Given the description of an element on the screen output the (x, y) to click on. 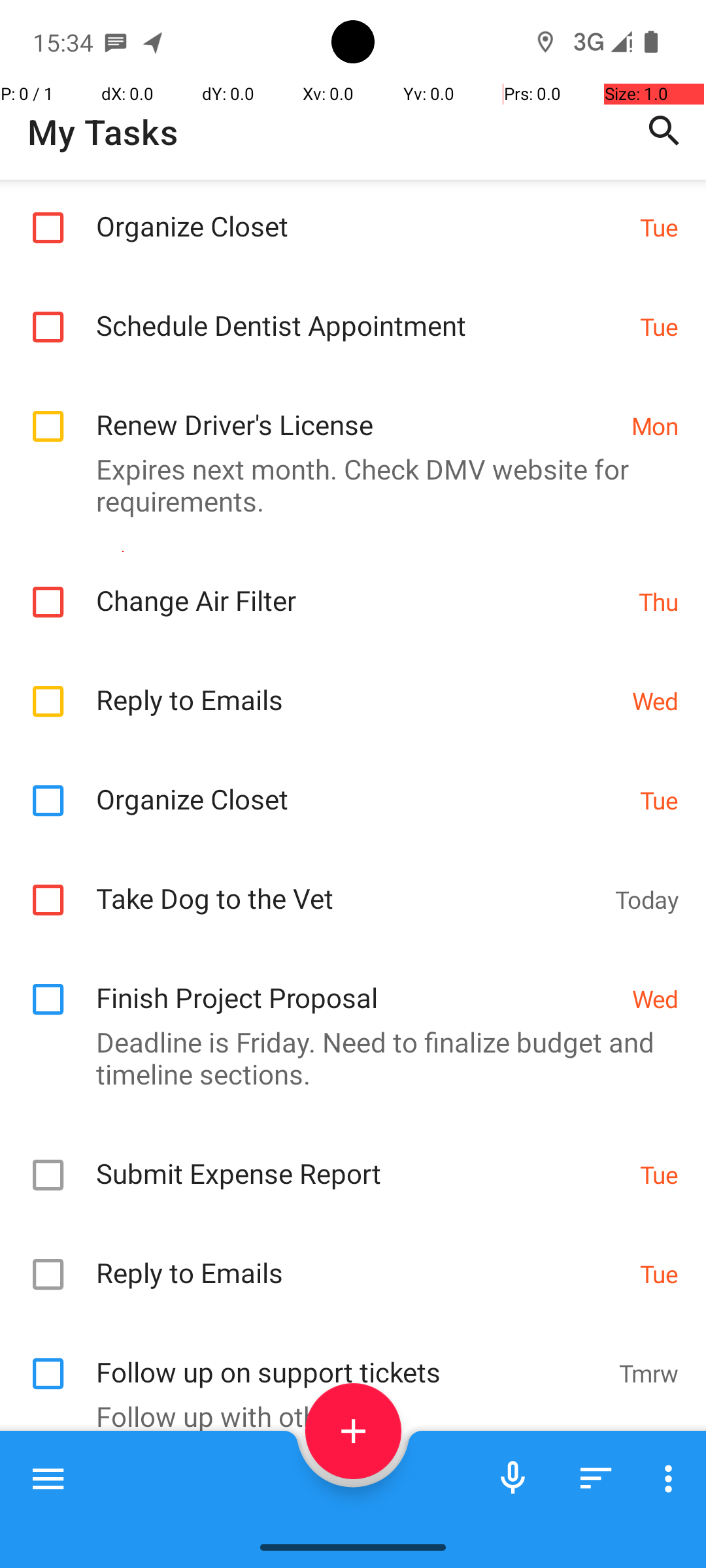
My Tasks Element type: android.widget.TextView (102, 131)
Sort Element type: android.widget.Button (595, 1478)
Organize Closet Element type: android.widget.TextView (361, 211)
Tue Element type: android.widget.TextView (659, 226)
Schedule Dentist Appointment Element type: android.widget.TextView (361, 310)
Renew Driver's License Element type: android.widget.TextView (356, 410)
Expires next month. Check DMV website for requirements. Element type: android.widget.TextView (346, 484)
Mon Element type: android.widget.TextView (654, 425)
Change Air Filter Element type: android.widget.TextView (360, 586)
Thu Element type: android.widget.TextView (658, 600)
Reply to Emails Element type: android.widget.TextView (357, 685)
Wed Element type: android.widget.TextView (655, 700)
Take Dog to the Vet Element type: android.widget.TextView (348, 883)
Finish Project Proposal Element type: android.widget.TextView (357, 983)
Deadline is Friday. Need to finalize budget and timeline sections. Element type: android.widget.TextView (346, 1057)
Submit Expense Report Element type: android.widget.TextView (361, 1159)
Follow up on support tickets Element type: android.widget.TextView (350, 1357)
Follow up with others. Element type: android.widget.TextView (346, 1415)
Tmrw Element type: android.widget.TextView (648, 1372)
Back Up Computer Files Element type: android.widget.TextView (357, 1497)
Yest Element type: android.widget.TextView (655, 1499)
